Given the description of an element on the screen output the (x, y) to click on. 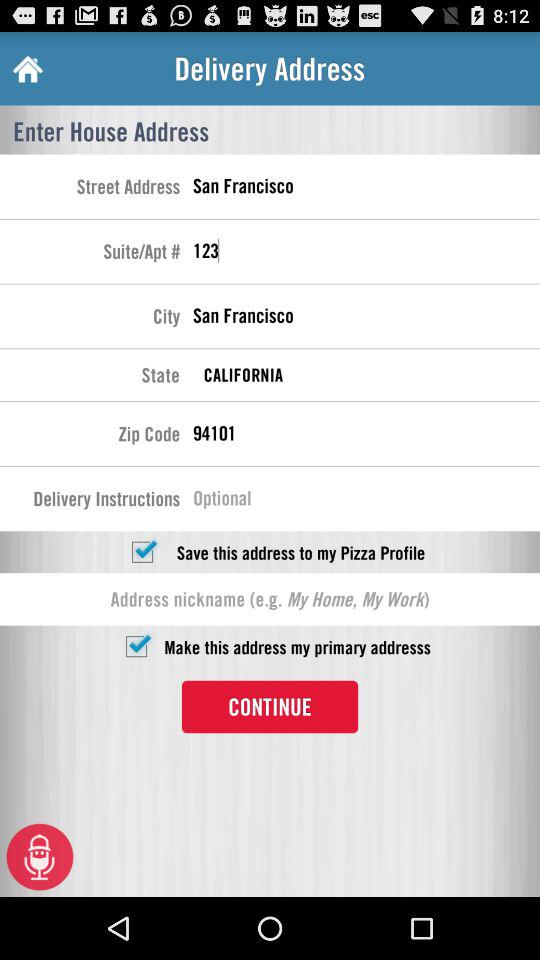
saving address option (142, 552)
